Given the description of an element on the screen output the (x, y) to click on. 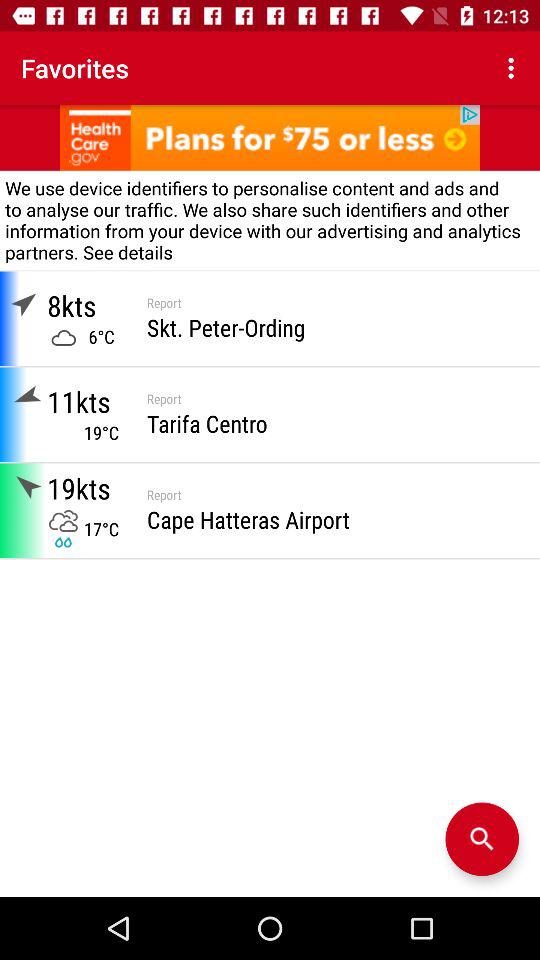
advertisement link (270, 137)
